Given the description of an element on the screen output the (x, y) to click on. 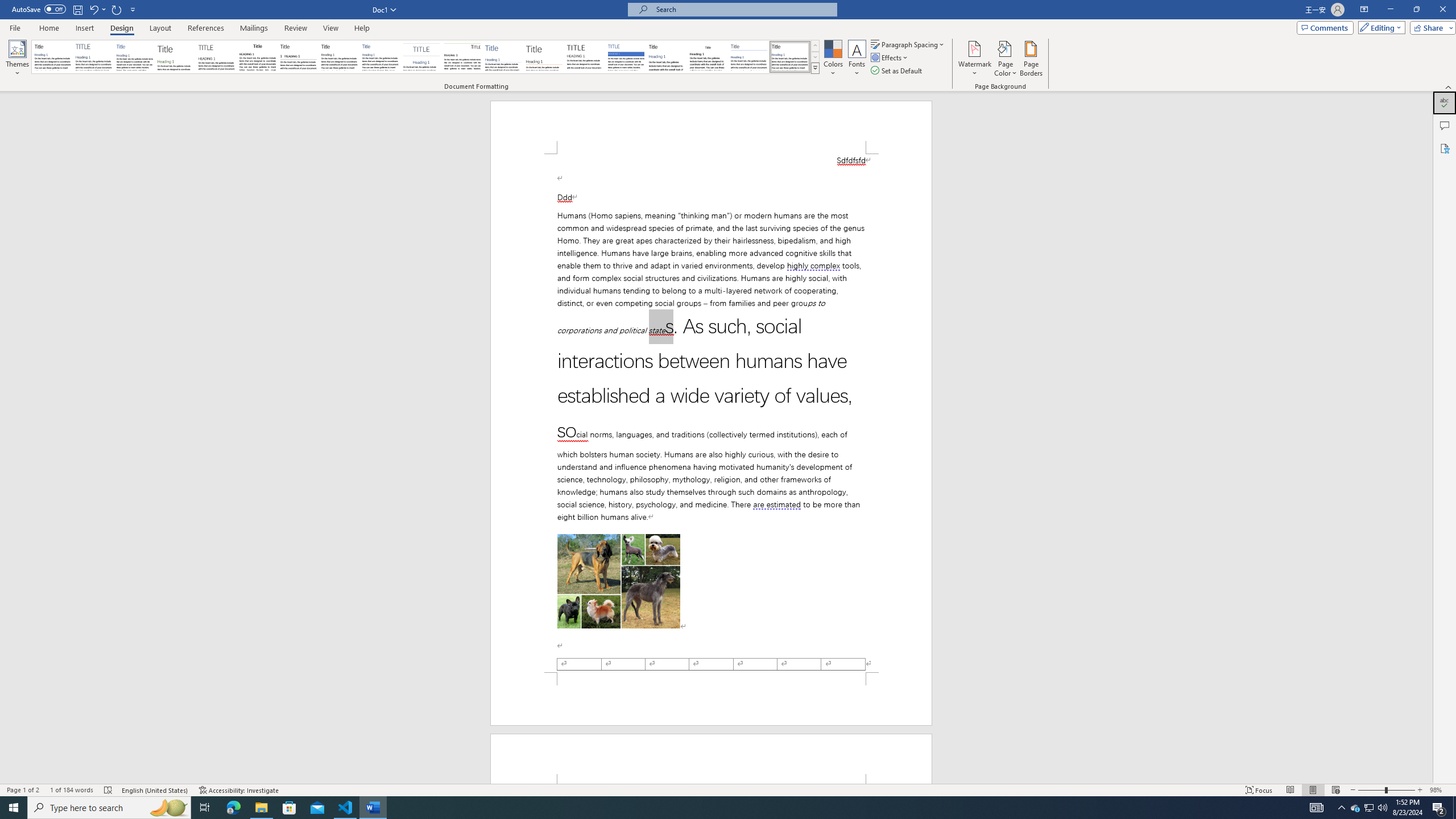
Themes (17, 58)
Lines (Distinctive) (462, 56)
Document (52, 56)
